Given the description of an element on the screen output the (x, y) to click on. 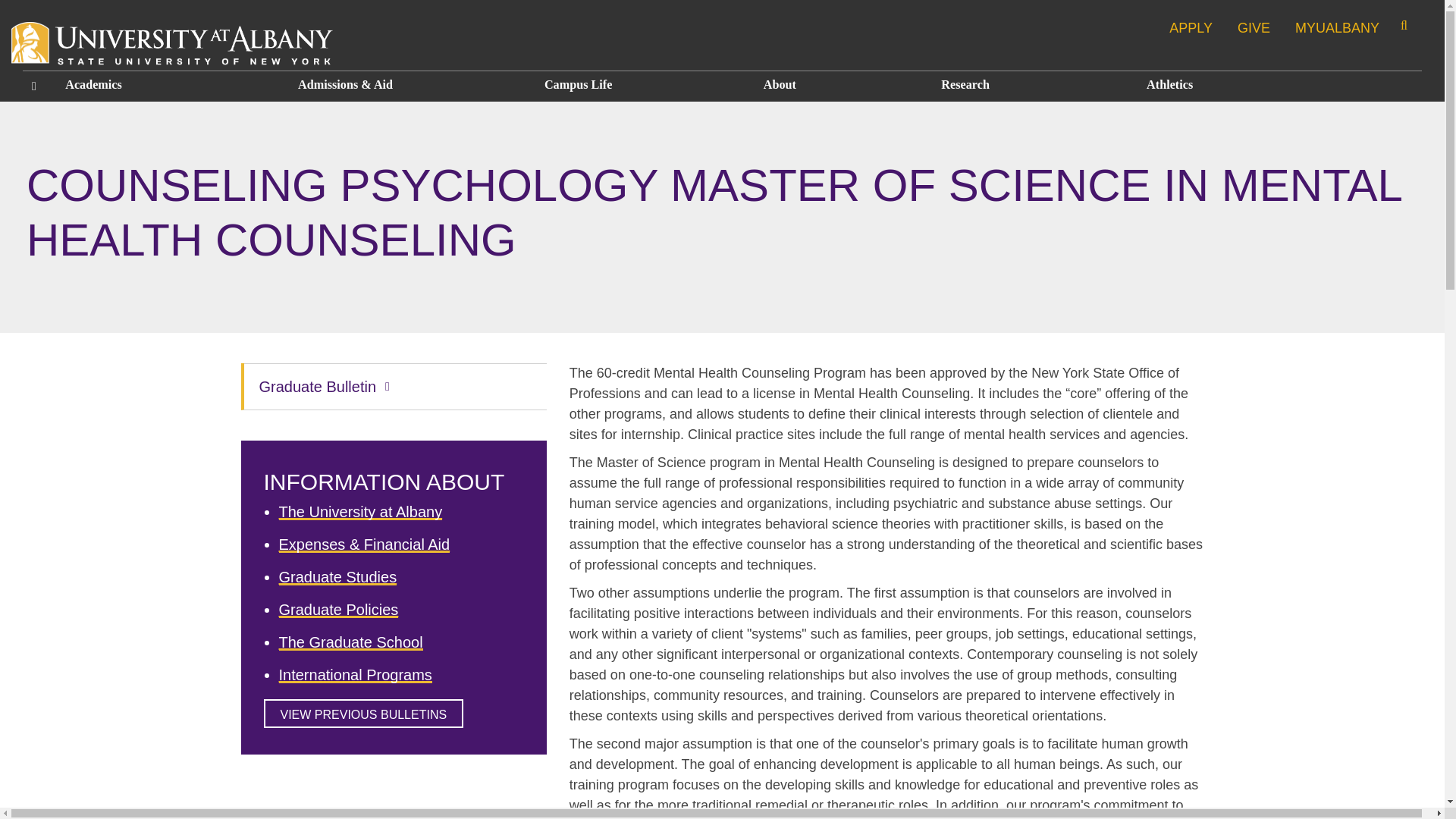
Link to Faculty and Staff Portal (1337, 27)
Academics (168, 85)
About (840, 85)
MYUALBANY (1337, 27)
APPLY (1190, 27)
Donate to the University (1253, 27)
Apply to the University (1190, 27)
GIVE (1253, 27)
Campus Life (641, 85)
